Given the description of an element on the screen output the (x, y) to click on. 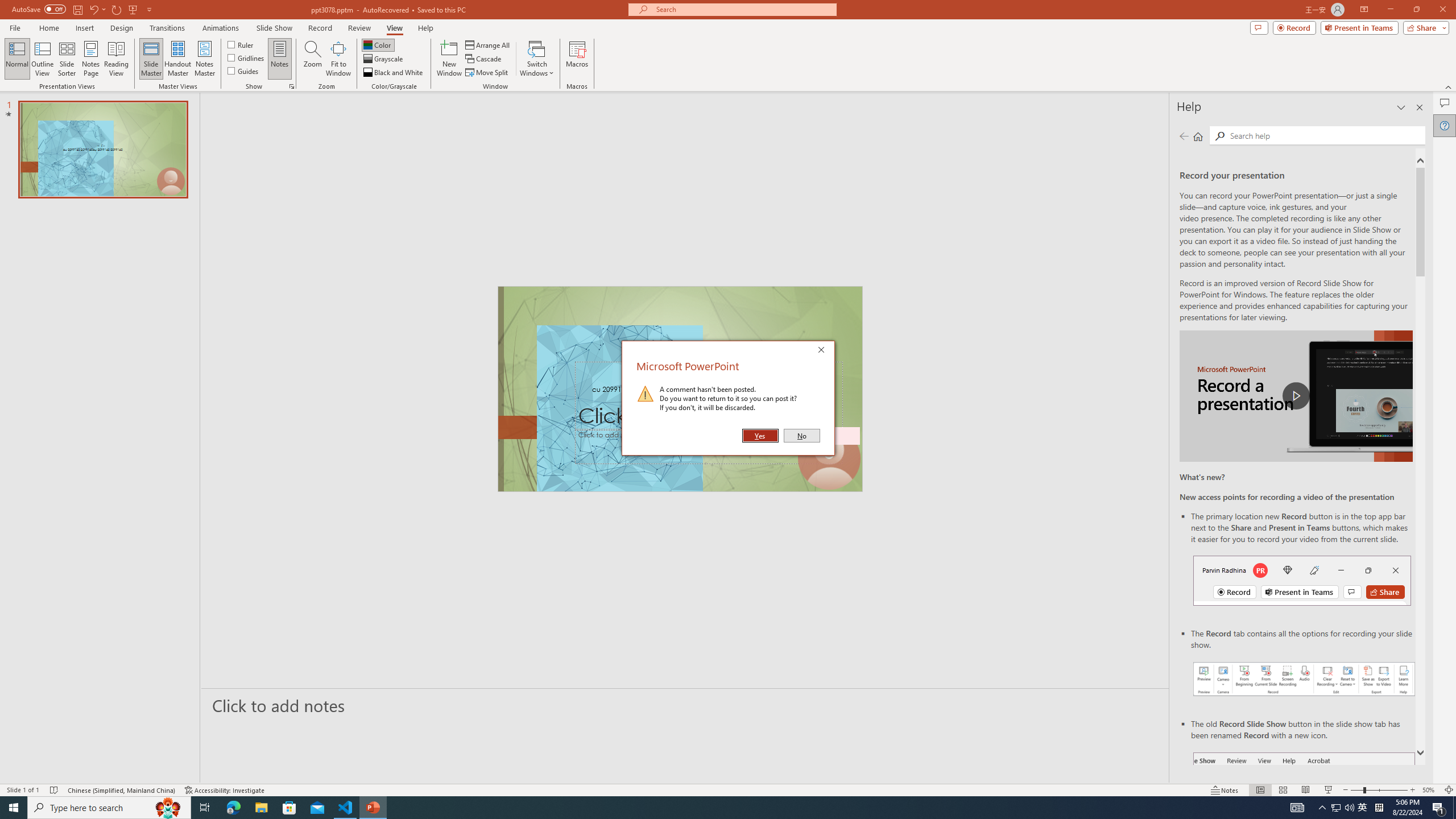
Previous page (1183, 136)
Grid Settings... (291, 85)
Notes Master (204, 58)
Macros (576, 58)
Notes (279, 58)
